Given the description of an element on the screen output the (x, y) to click on. 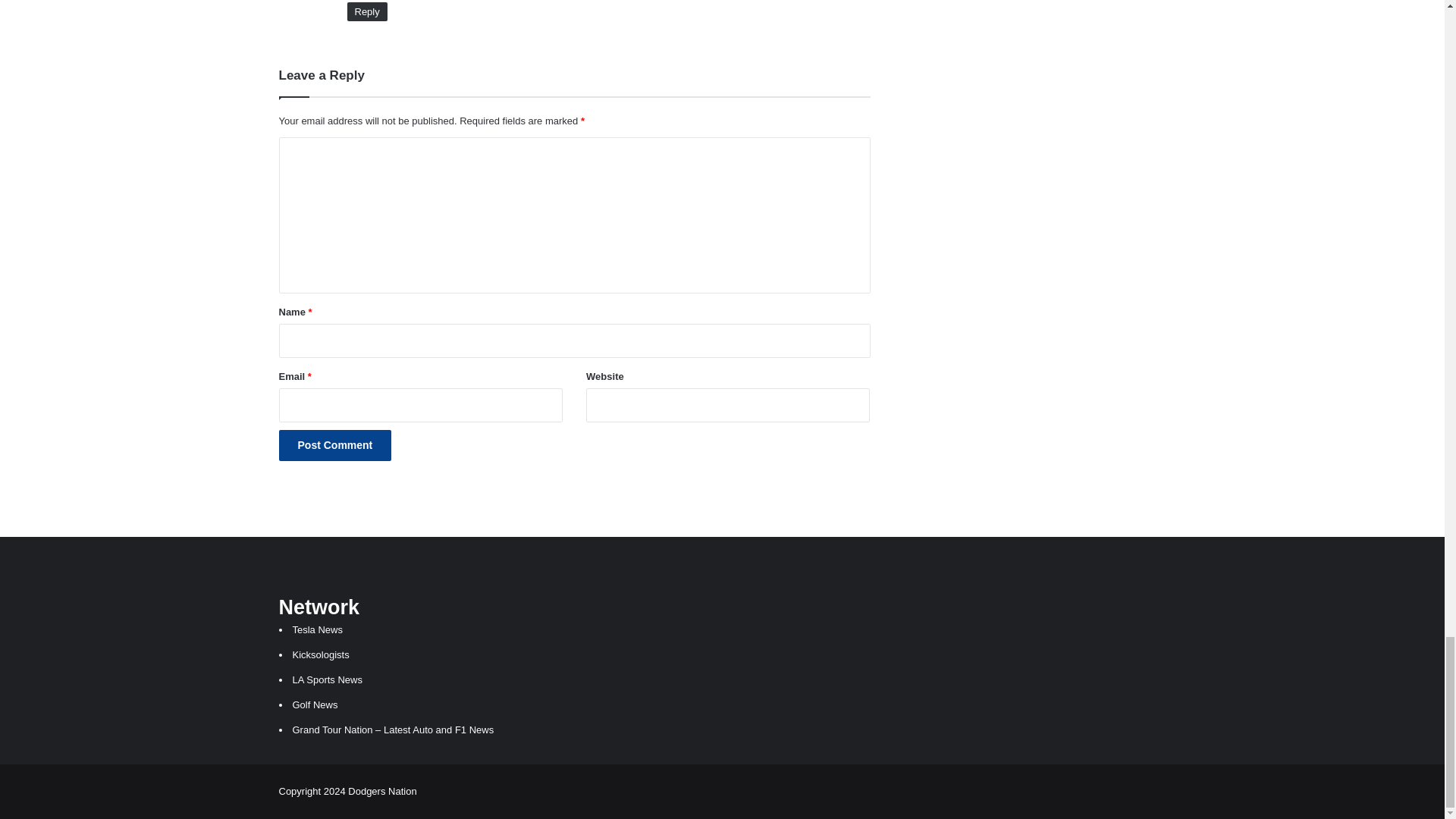
Post Comment (335, 445)
